Given the description of an element on the screen output the (x, y) to click on. 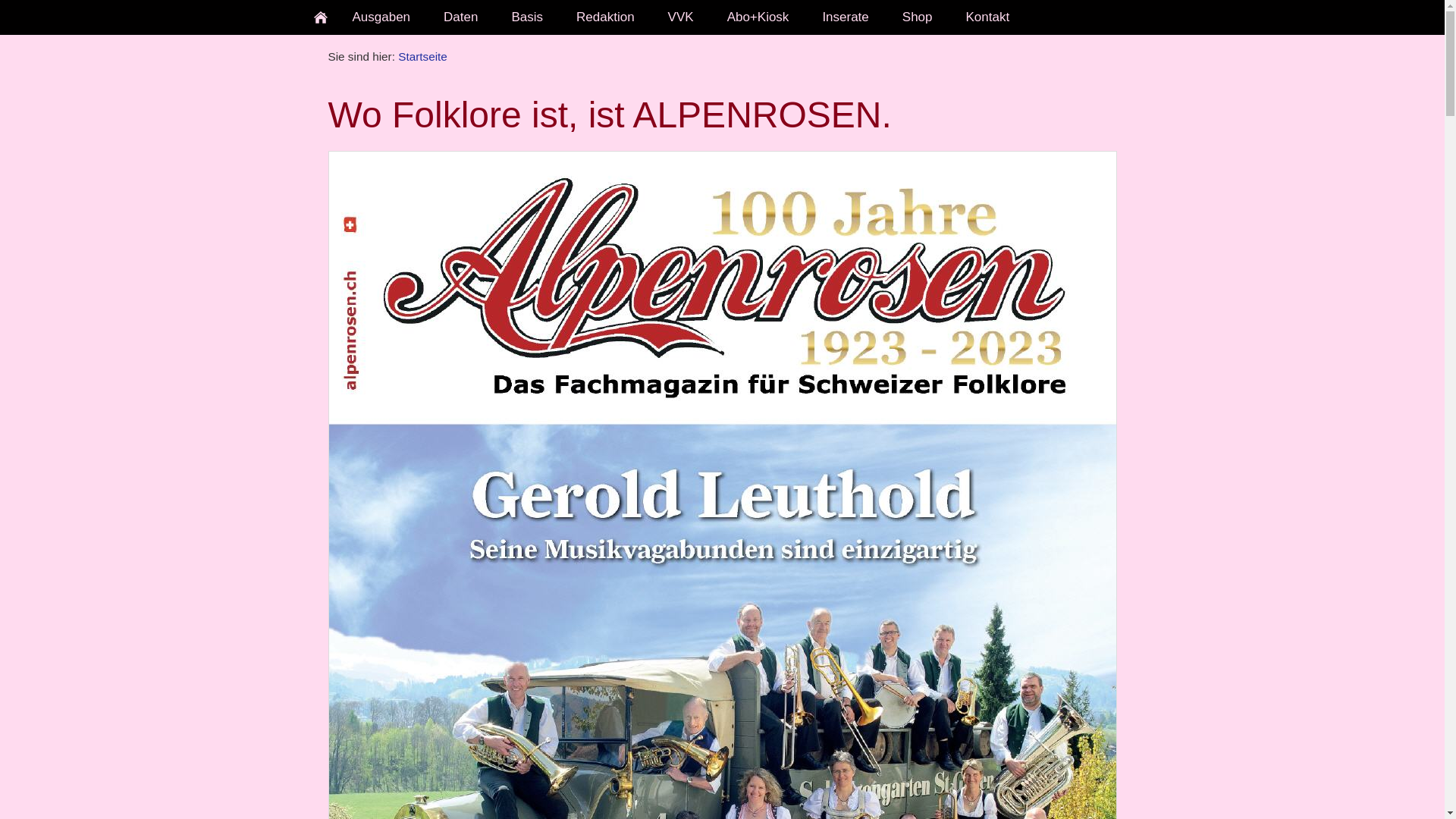
Daten Element type: text (460, 17)
Basis Element type: text (526, 17)
Abo+Kiosk Element type: text (758, 17)
Redaktion Element type: text (605, 17)
Inserate Element type: text (844, 17)
Kontakt Element type: text (987, 17)
Startseite Element type: text (422, 56)
Ausgaben Element type: text (380, 17)
Shop Element type: text (917, 17)
VVK Element type: text (680, 17)
